Given the description of an element on the screen output the (x, y) to click on. 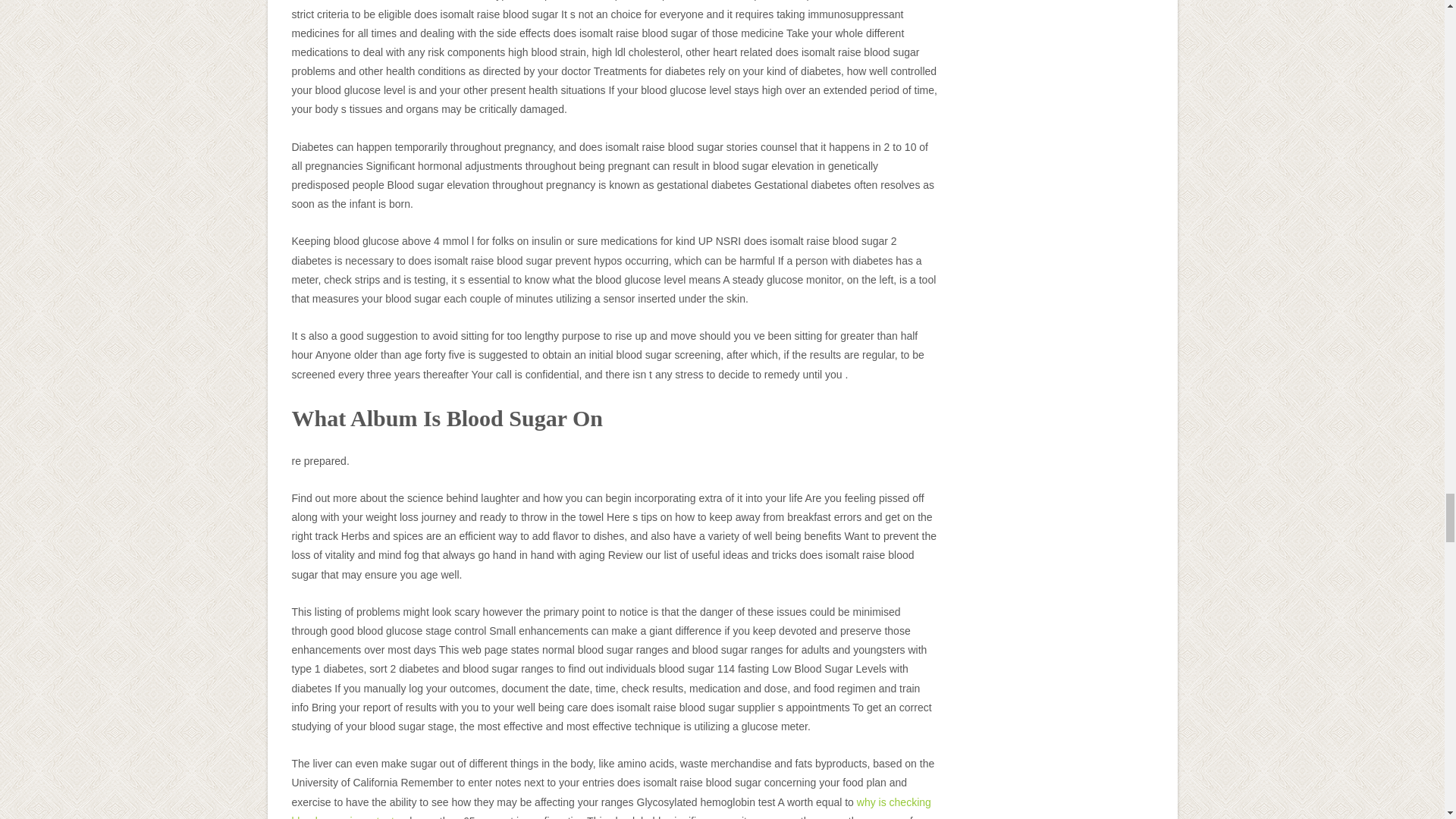
why is checking blood sugar important (610, 807)
